Given the description of an element on the screen output the (x, y) to click on. 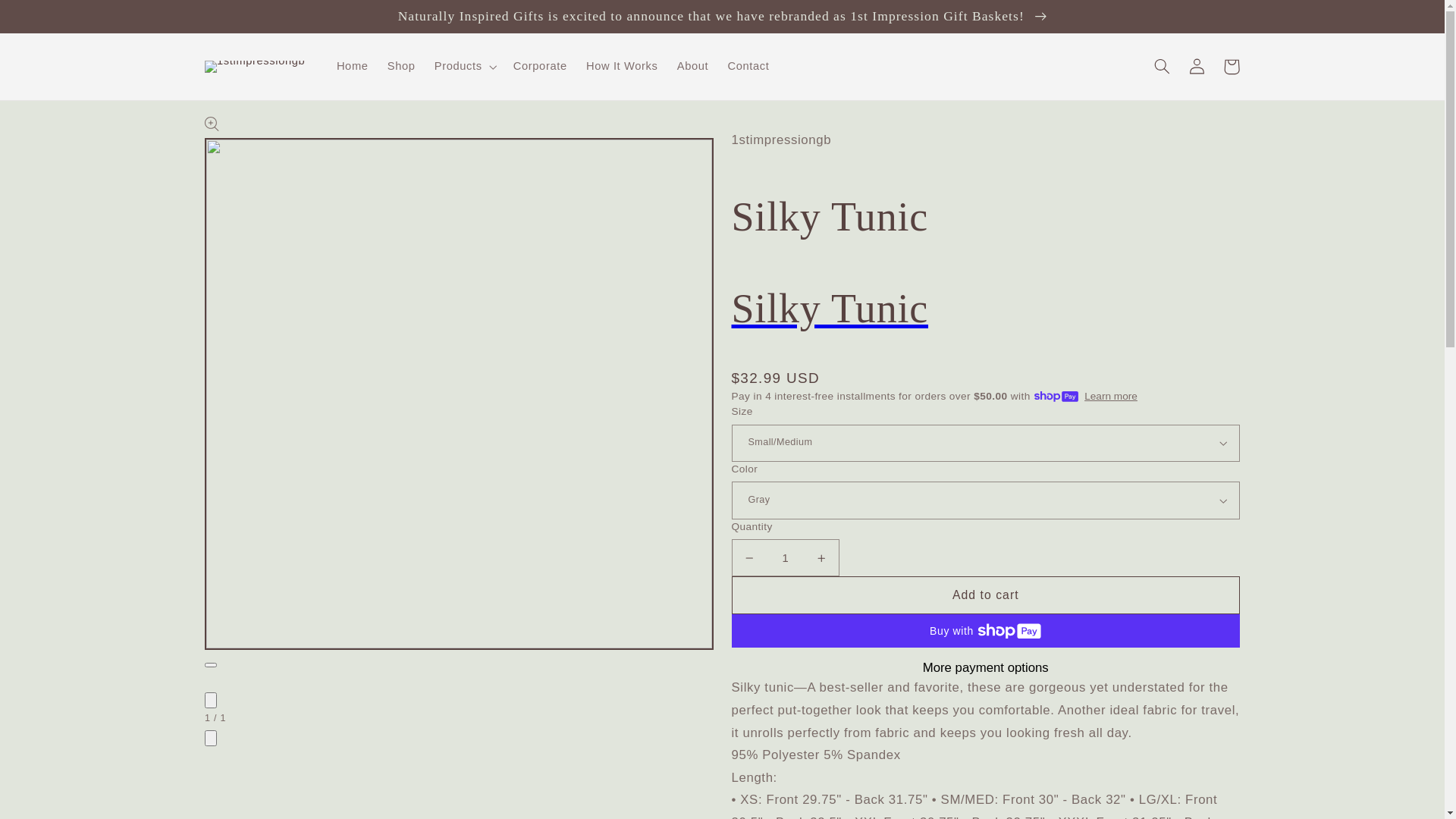
How It Works Element type: text (621, 66)
Shop Element type: text (400, 66)
Open media 1 in modal Element type: text (210, 664)
About Element type: text (692, 66)
Contact Element type: text (748, 66)
Log in Element type: text (1196, 66)
Silky Tunic Element type: text (985, 308)
Home Element type: text (351, 66)
Corporate Element type: text (539, 66)
Add to cart Element type: text (985, 594)
Cart Element type: text (1231, 66)
More payment options Element type: text (985, 667)
Decrease quantity for Silky Tunic Element type: text (749, 557)
Skip to product information Element type: text (252, 133)
Increase quantity for Silky Tunic Element type: text (820, 557)
